Given the description of an element on the screen output the (x, y) to click on. 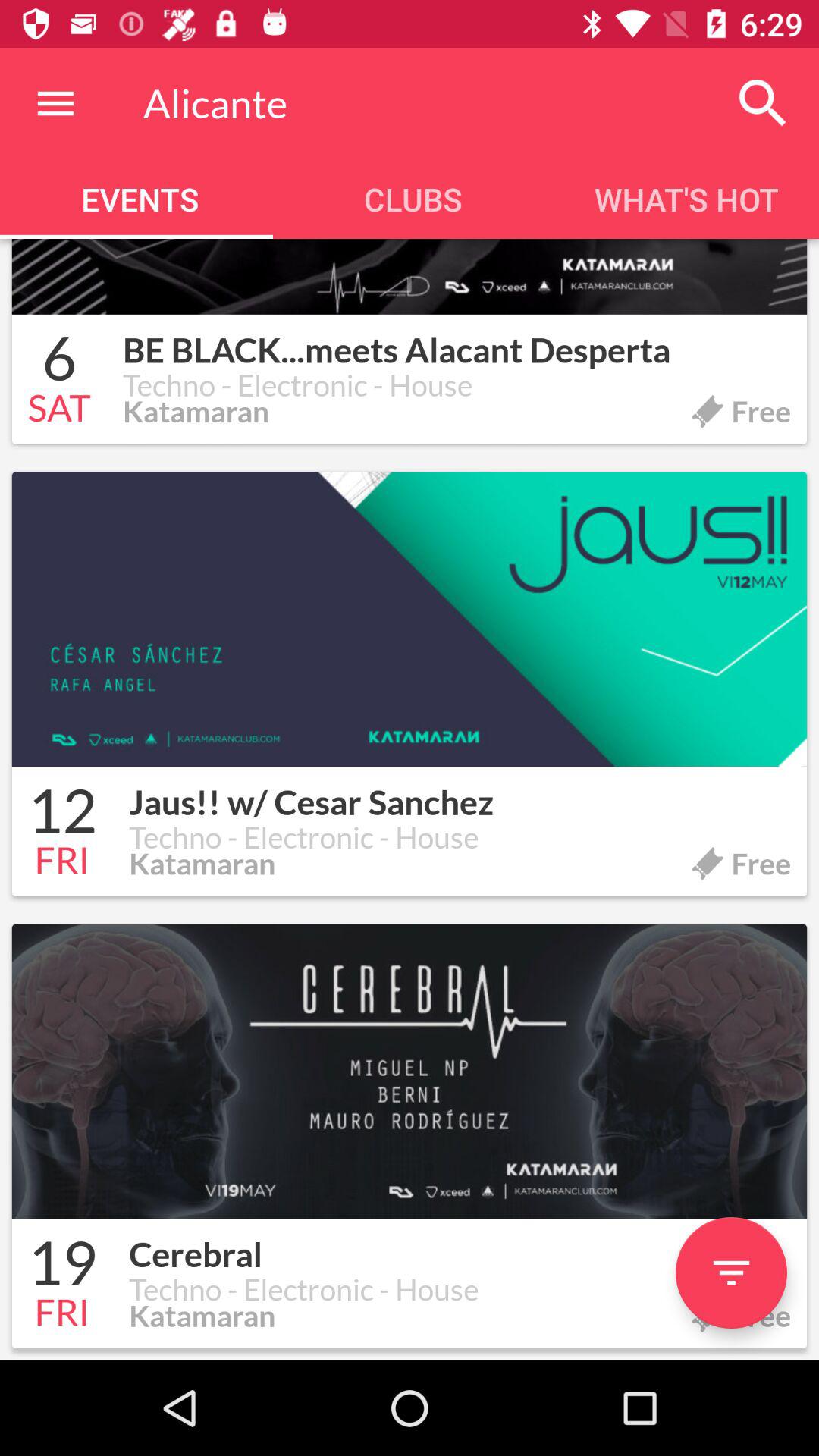
open the icon next to the techno - electronic - house icon (59, 409)
